Given the description of an element on the screen output the (x, y) to click on. 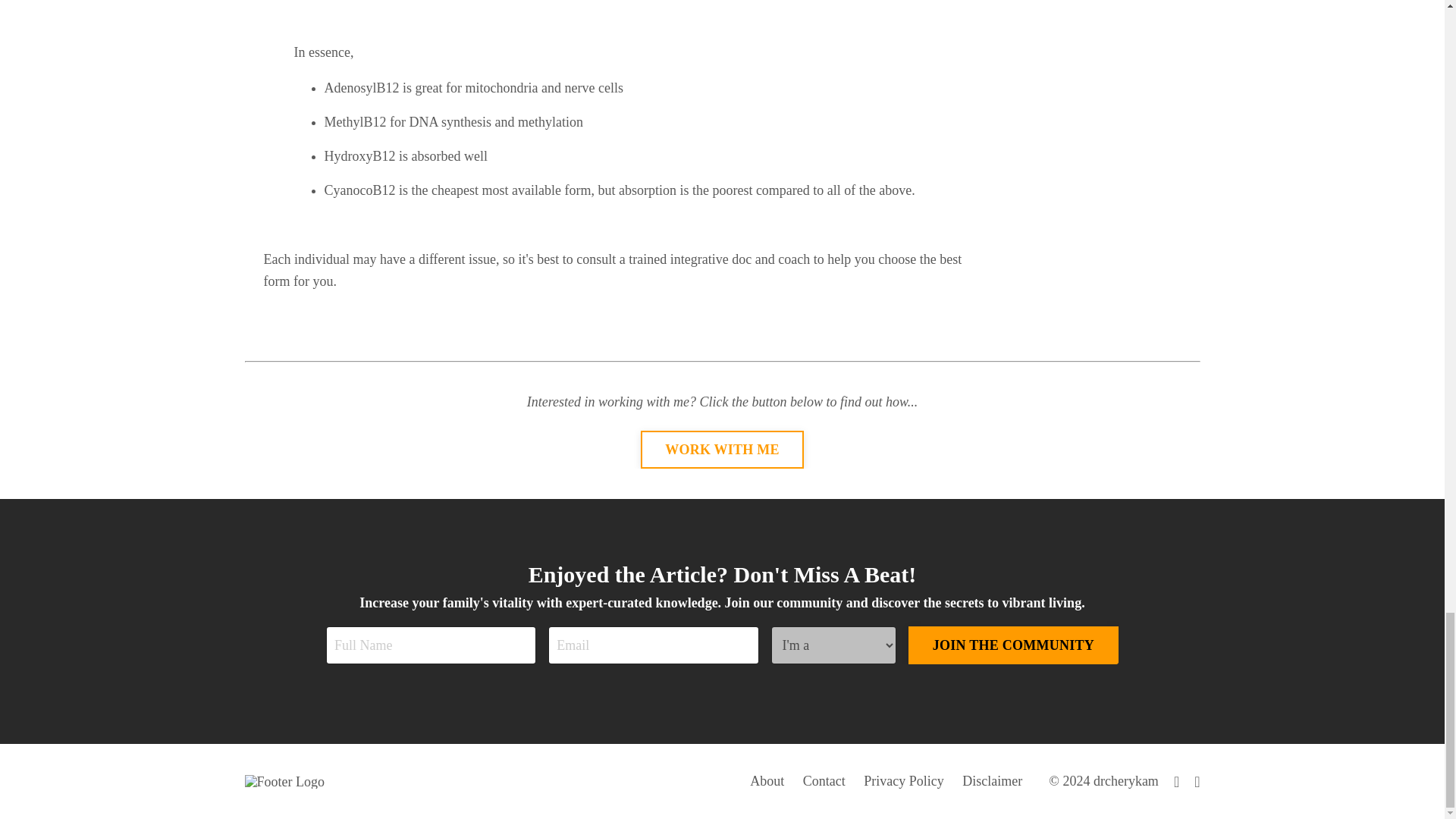
JOIN THE COMMUNITY (1013, 645)
Privacy Policy (903, 780)
Disclaimer (992, 780)
About (766, 780)
Contact (824, 780)
WORK WITH ME (721, 449)
